Given the description of an element on the screen output the (x, y) to click on. 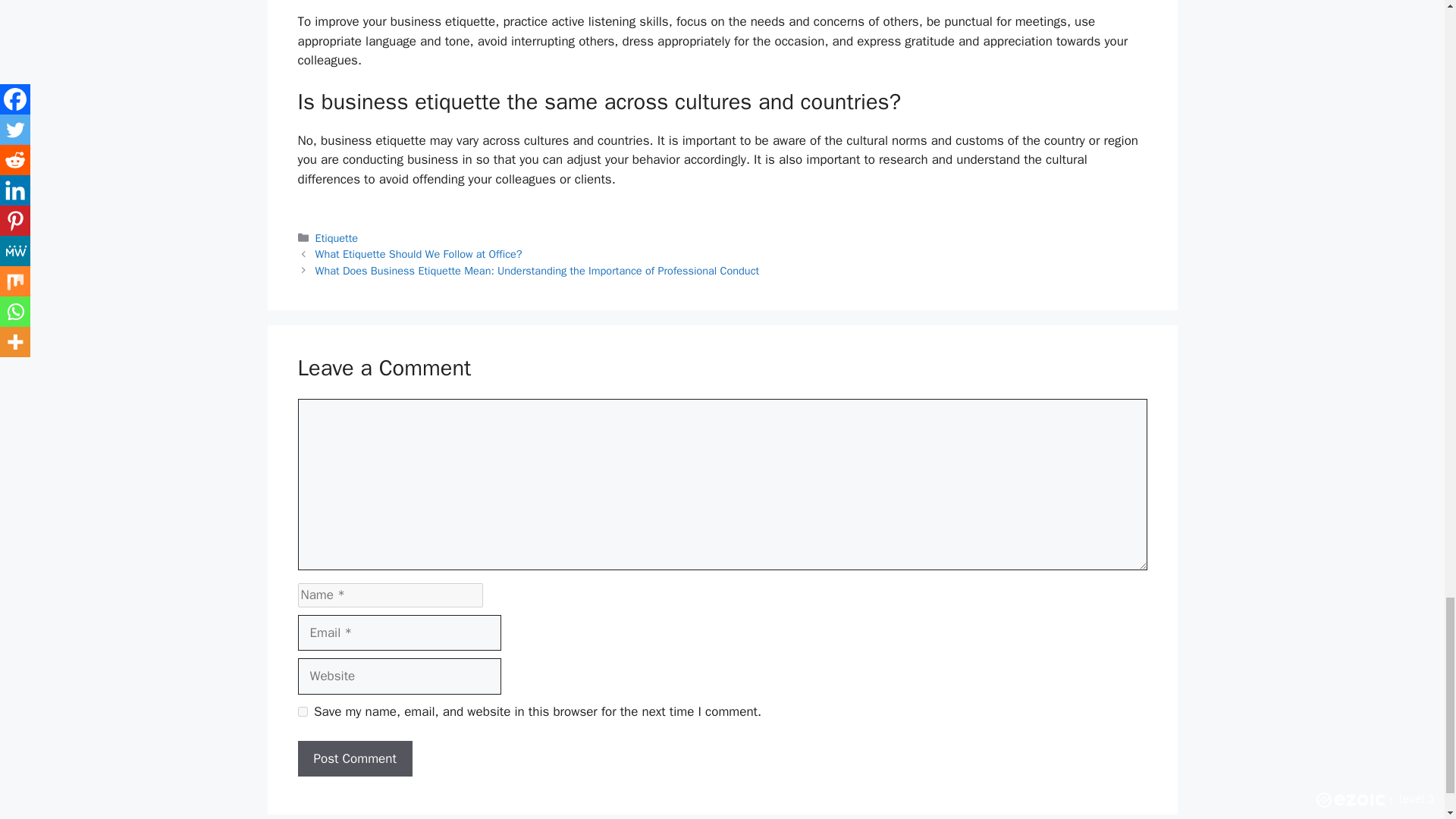
Etiquette (336, 237)
Post Comment (354, 759)
What Etiquette Should We Follow at Office? (418, 254)
yes (302, 711)
